Given the description of an element on the screen output the (x, y) to click on. 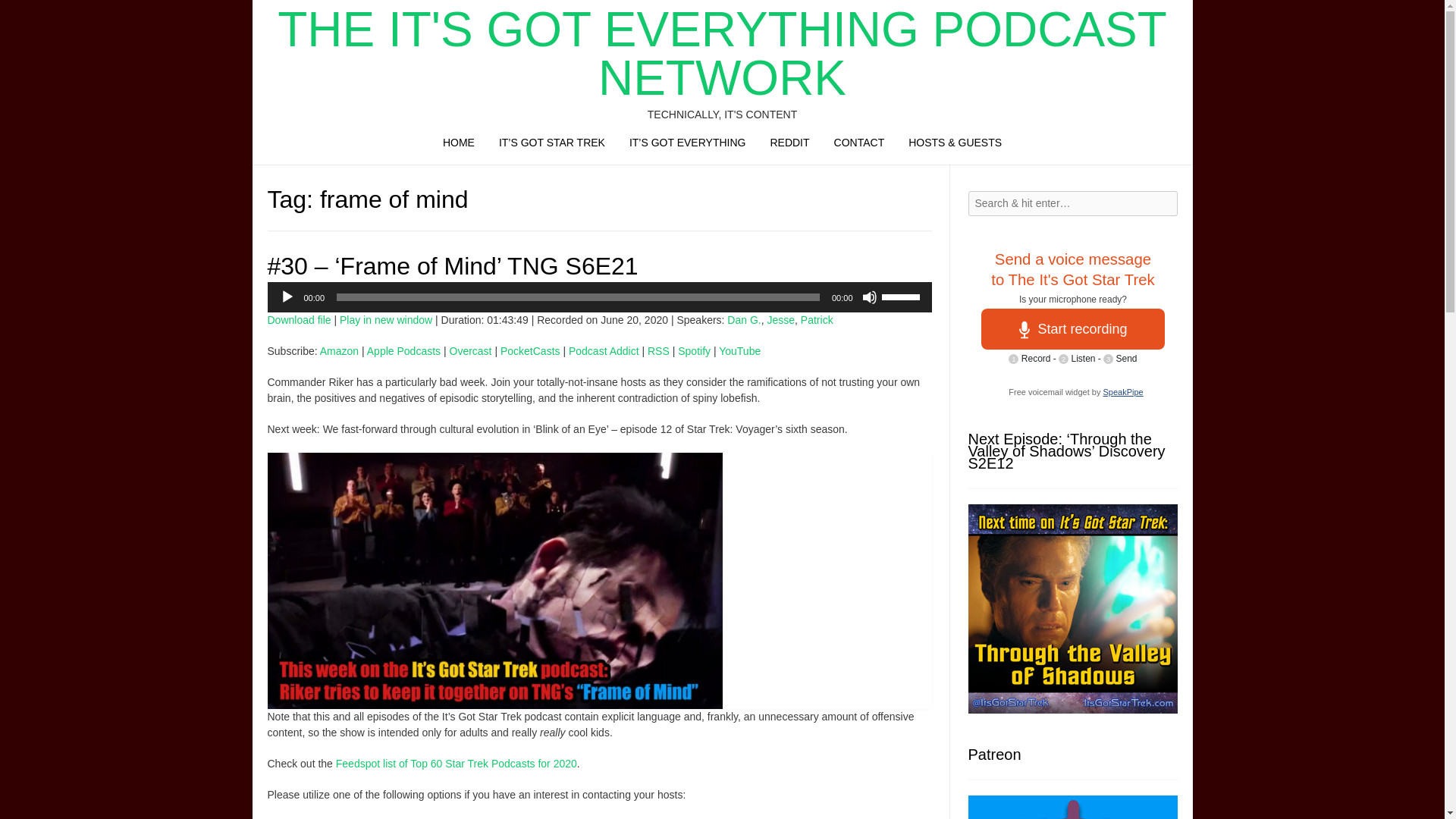
Apple Podcasts (403, 350)
Play (286, 296)
Amazon (339, 350)
Download file (298, 319)
CONTACT (859, 145)
YouTube (739, 350)
Mute (868, 296)
THE IT'S GOT EVERYTHING PODCAST NETWORK (721, 53)
HOME (458, 145)
Podcast Addict (604, 350)
PocketCasts (530, 350)
Next Episode: "Kobayashi Maru" Discovery S4E01 (1072, 608)
Overcast (470, 350)
Play in new window (385, 319)
RSS (658, 350)
